Given the description of an element on the screen output the (x, y) to click on. 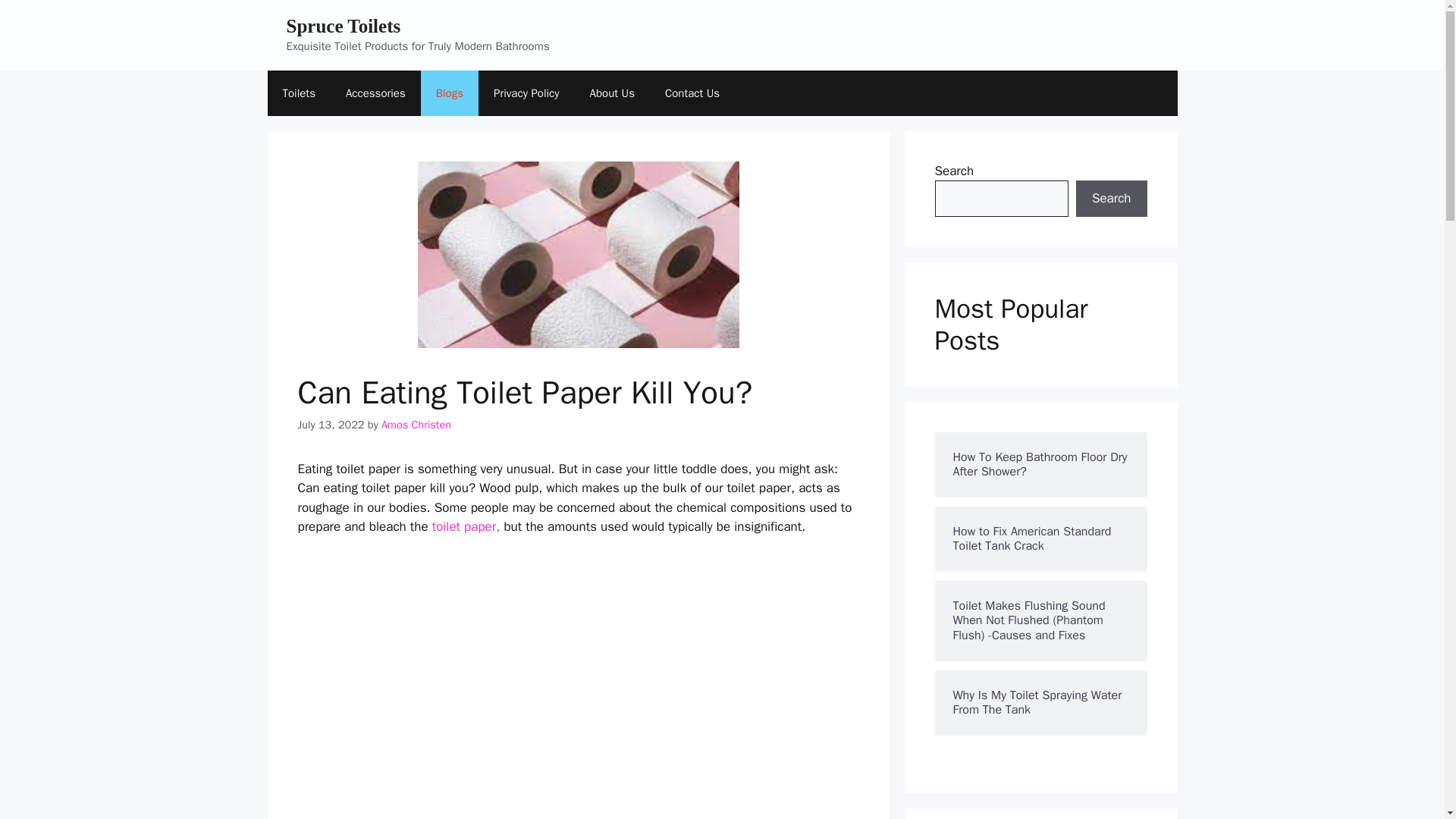
Blogs (449, 92)
Amos Christen (416, 424)
How To Keep Bathroom Floor Dry After Shower? (1040, 464)
About Us (612, 92)
Accessories (375, 92)
View all posts by Amos Christen (416, 424)
Toilets (298, 92)
How to Fix American Standard Toilet Tank Crack (1040, 538)
Search (1111, 198)
Contact Us (692, 92)
Privacy Policy (527, 92)
Spruce Toilets (343, 25)
Can Eating Toilet Paper Kill You? 1 (577, 253)
Why Is My Toilet Spraying Water From The Tank (1040, 702)
toilet paper, (466, 526)
